Given the description of an element on the screen output the (x, y) to click on. 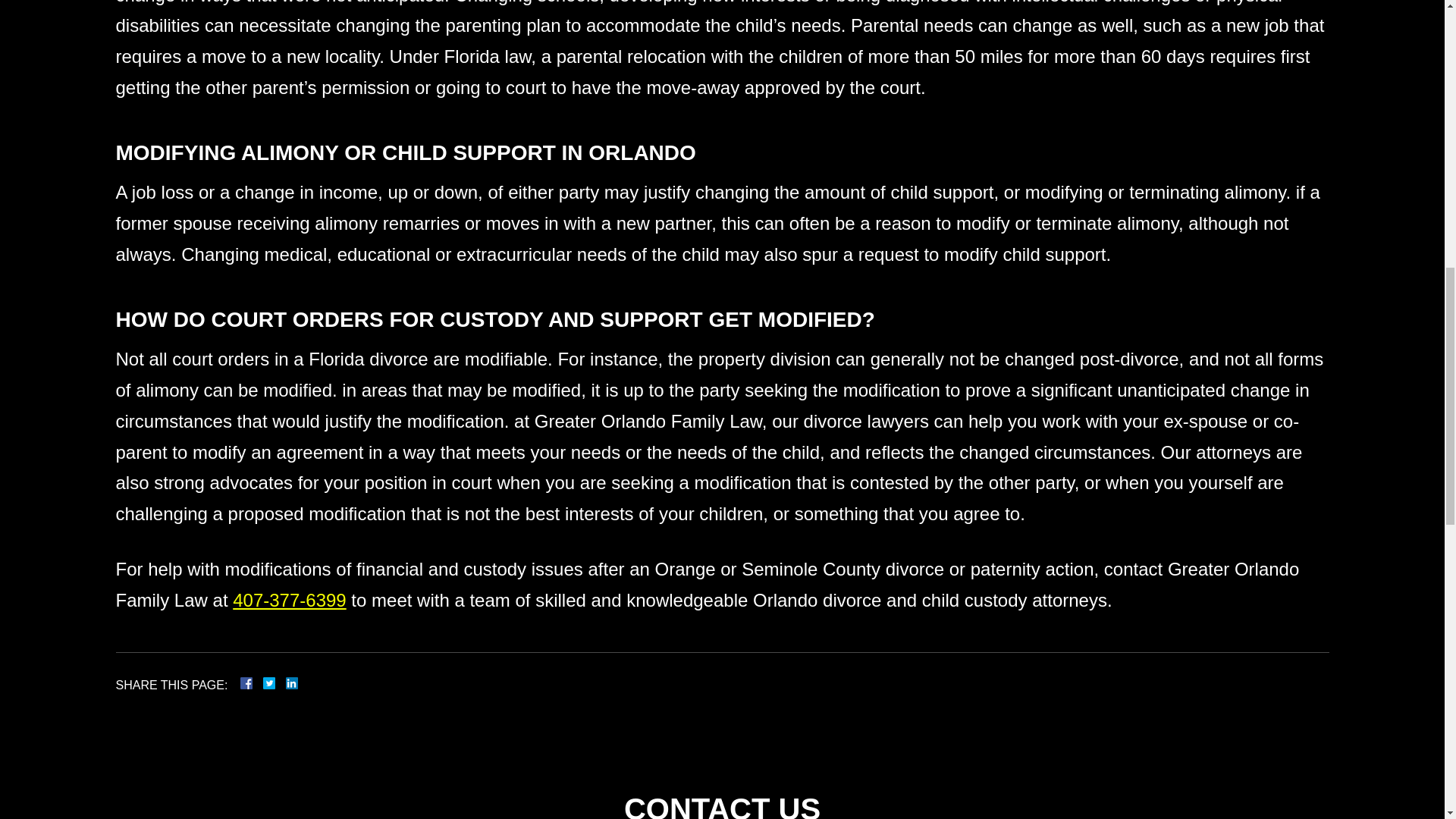
LinkedIn (286, 683)
Twitter (274, 683)
Facebook (264, 683)
